Given the description of an element on the screen output the (x, y) to click on. 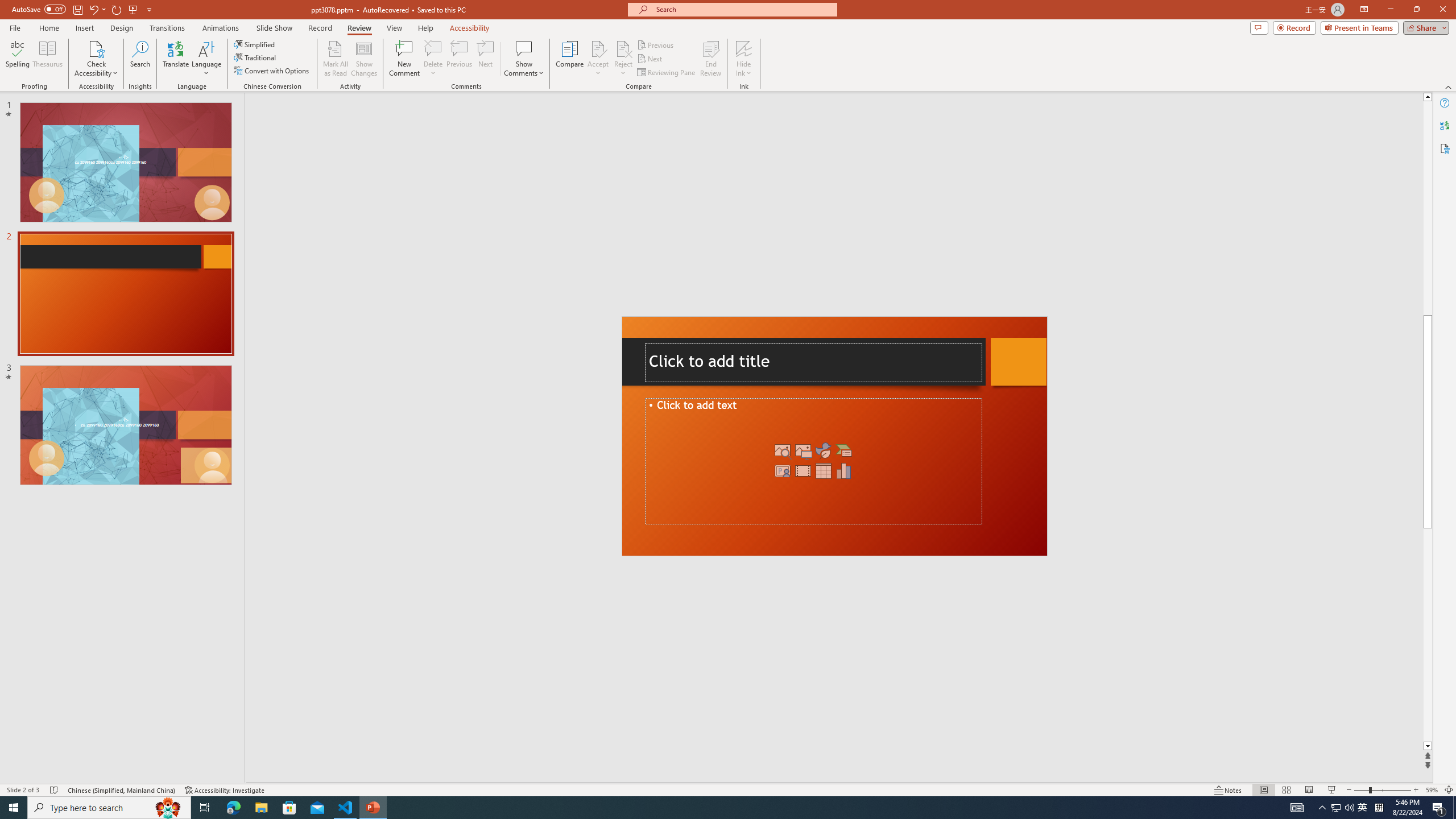
Compare (569, 58)
Zoom 59% (1431, 790)
Thesaurus... (47, 58)
Mark All as Read (335, 58)
